Given the description of an element on the screen output the (x, y) to click on. 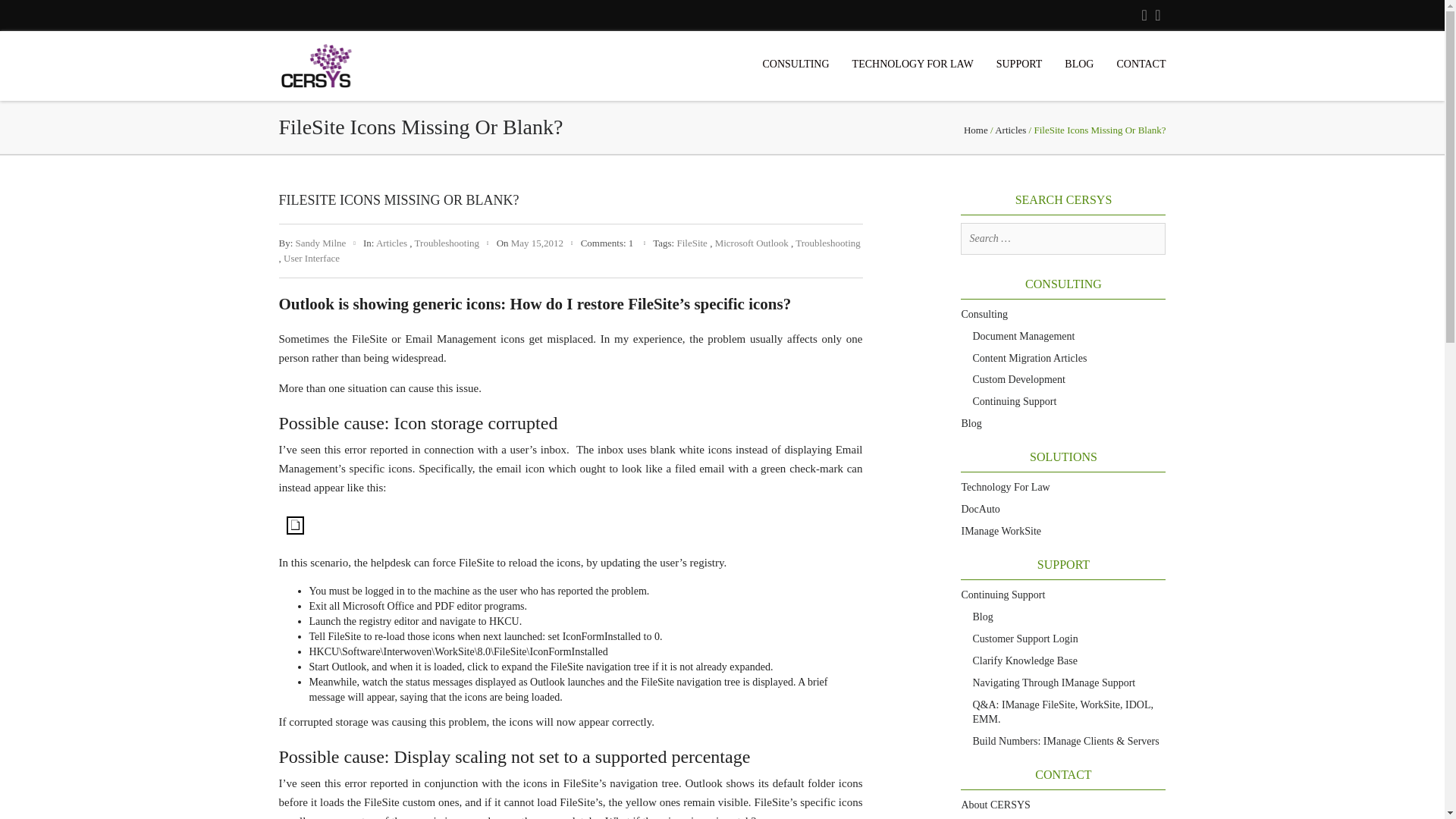
CONTACT (1141, 63)
Microsoft Outlook (751, 242)
Sandy Milne (320, 242)
Articles (1010, 129)
white blank icon (295, 525)
FileSite (691, 242)
User Interface (311, 257)
BLOG (1078, 63)
May 15,2012 (537, 242)
12:43 pm (537, 242)
SUPPORT (1018, 63)
TECHNOLOGY FOR LAW (912, 63)
Articles (391, 242)
Sandy Milne (320, 242)
Troubleshooting (827, 242)
